Given the description of an element on the screen output the (x, y) to click on. 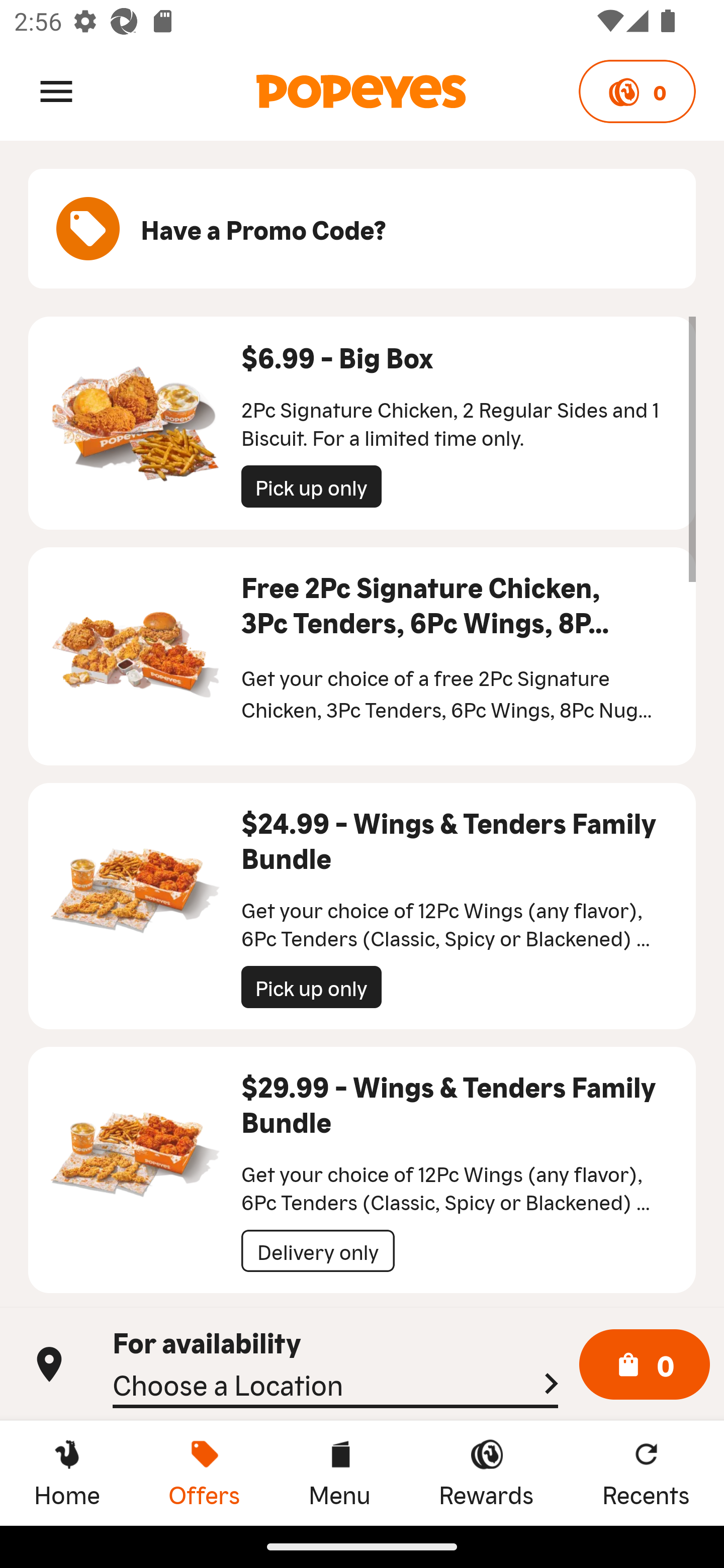
Menu  (56, 90)
0 Points 0 (636, 91)
Have a Promo Code?  Have a Promo Code? (361, 228)
0 Cart total  0 (644, 1364)
Home Home Home (66, 1472)
Offers, current page Offers Offers, current page (203, 1472)
Menu Menu Menu (339, 1472)
Rewards Rewards Rewards (486, 1472)
Recents Recents Recents (646, 1472)
